Given the description of an element on the screen output the (x, y) to click on. 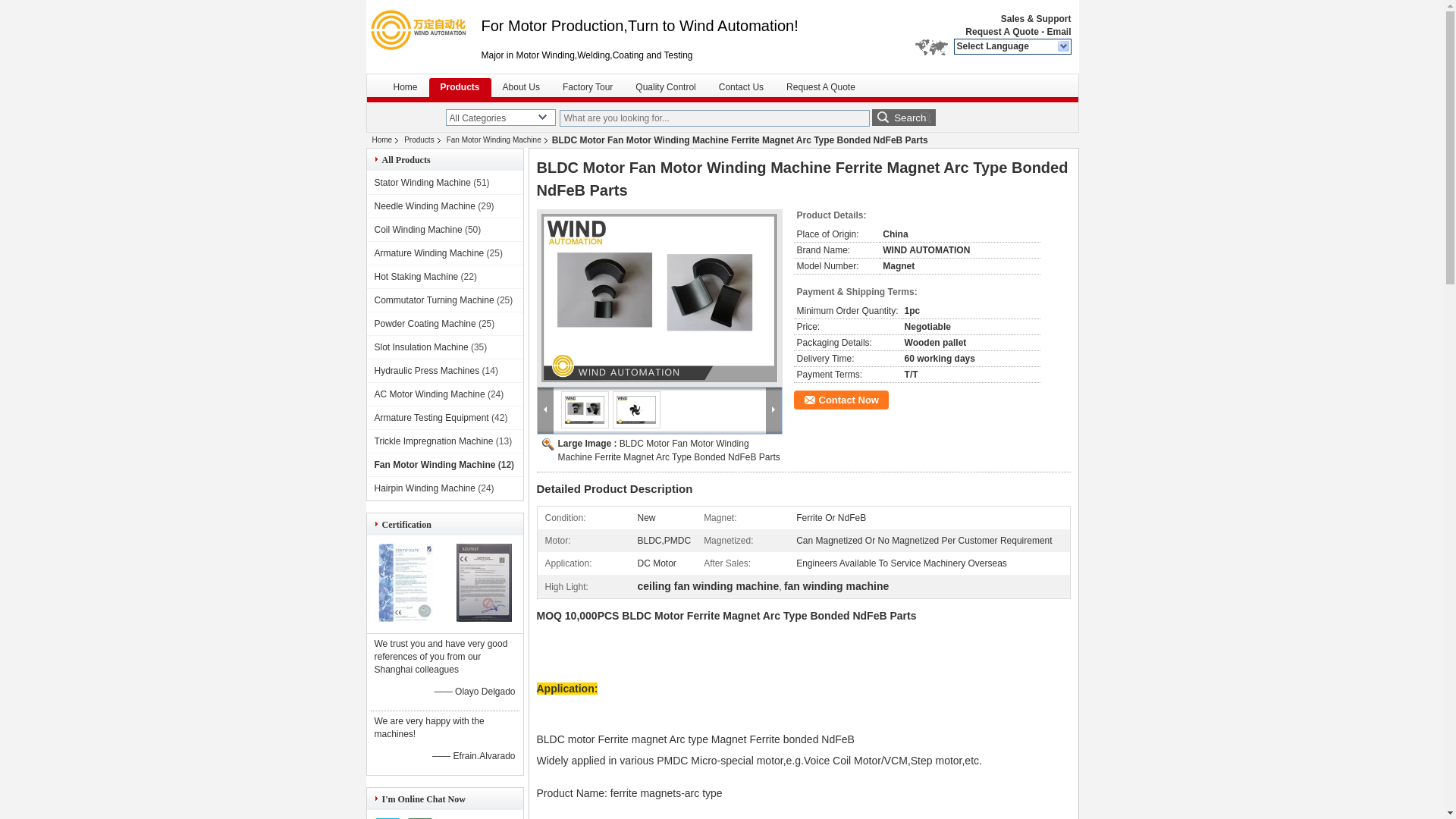
Home (405, 87)
China Stator Winding Machine manufacturer (422, 30)
Request A Quote (1001, 31)
Shanghai Wind Automation Equipment Co.,Ltd (1063, 47)
Quality Control (665, 87)
Email (1058, 31)
About Us (521, 87)
Factory Tour (587, 87)
Shanghai Wind Automation Equipment Co.,Ltd (1001, 31)
Request A Quote (820, 87)
Products (460, 87)
Contact Us (740, 87)
All Categories (499, 117)
